Given the description of an element on the screen output the (x, y) to click on. 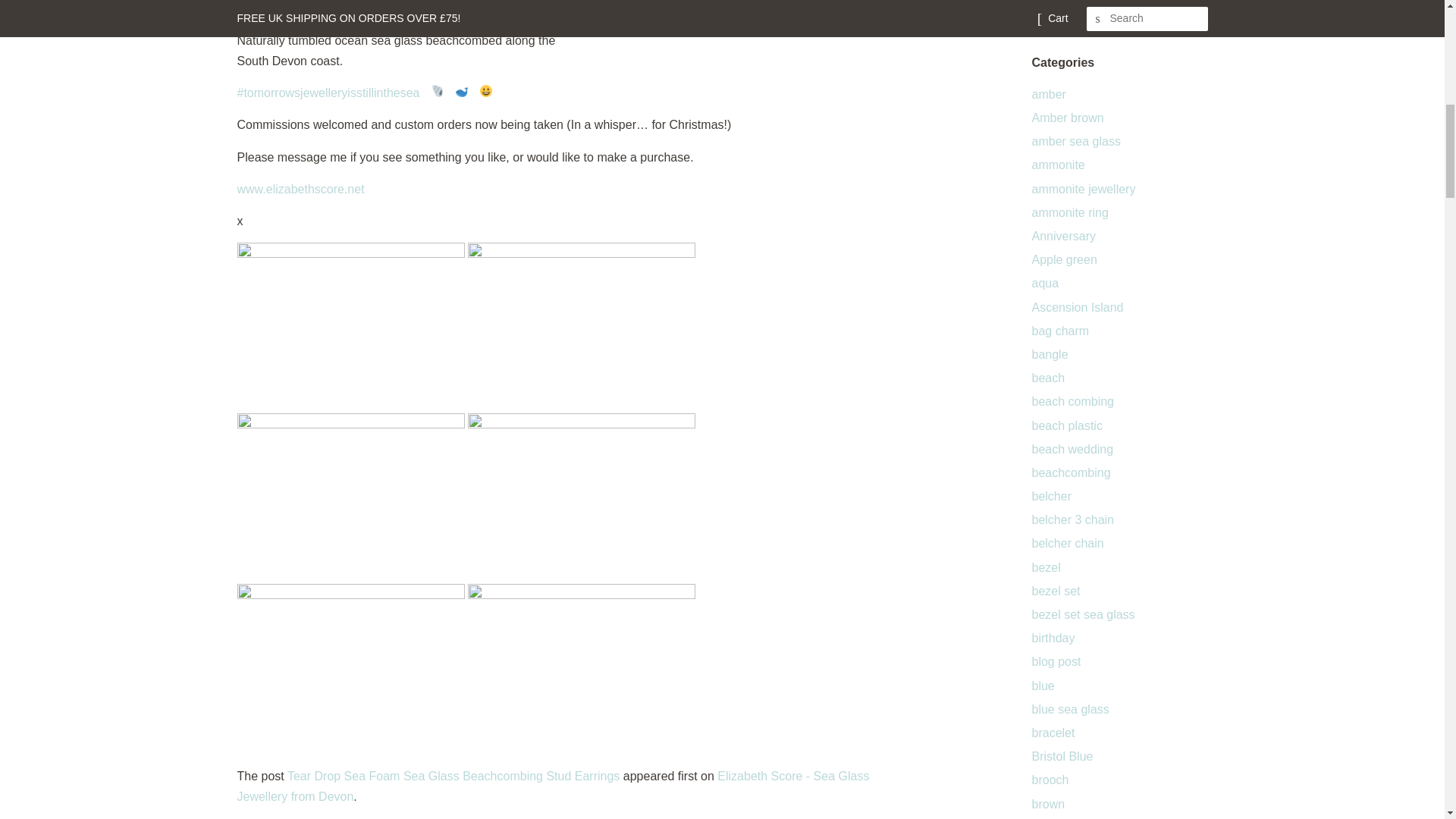
Show articles tagged beach wedding (1071, 449)
Show articles tagged aqua (1044, 282)
Show articles tagged ammonite jewellery (1082, 188)
Show articles tagged Apple green (1063, 259)
Show articles tagged amber sea glass (1074, 141)
Show articles tagged Ascension Island (1076, 307)
Show articles tagged beachcombing (1069, 472)
Show articles tagged beach (1047, 377)
Show articles tagged ammonite (1057, 164)
Show articles tagged ammonite ring (1069, 212)
